Given the description of an element on the screen output the (x, y) to click on. 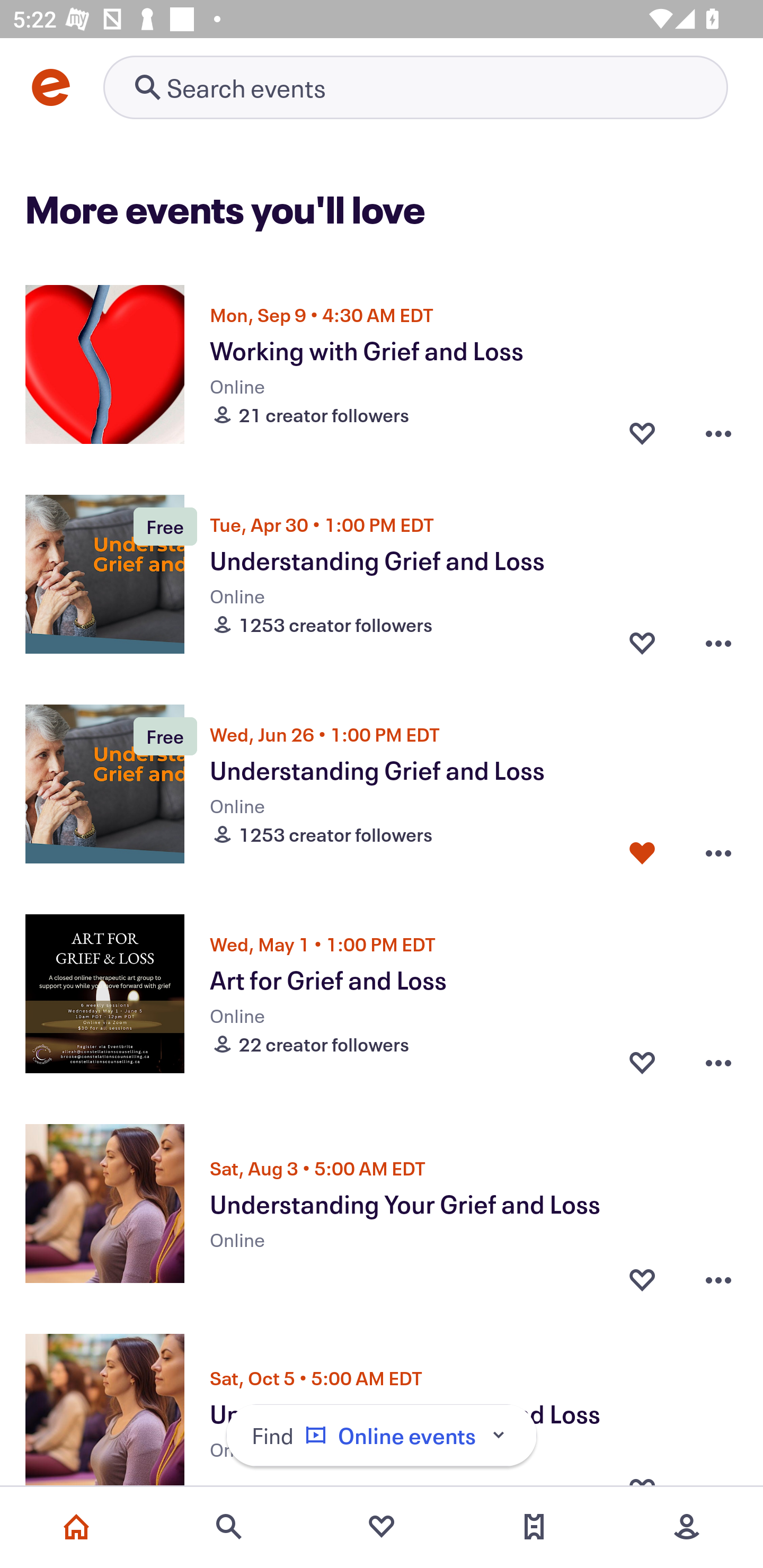
Retry's image Search events (415, 86)
Favorite button (642, 431)
Overflow menu button (718, 431)
Favorite button (642, 641)
Overflow menu button (718, 641)
Favorite button (642, 852)
Overflow menu button (718, 852)
Favorite button (642, 1062)
Overflow menu button (718, 1062)
Favorite button (642, 1274)
Overflow menu button (718, 1274)
Find Online events (381, 1435)
Home (76, 1526)
Search events (228, 1526)
Favorites (381, 1526)
Tickets (533, 1526)
More (686, 1526)
